Given the description of an element on the screen output the (x, y) to click on. 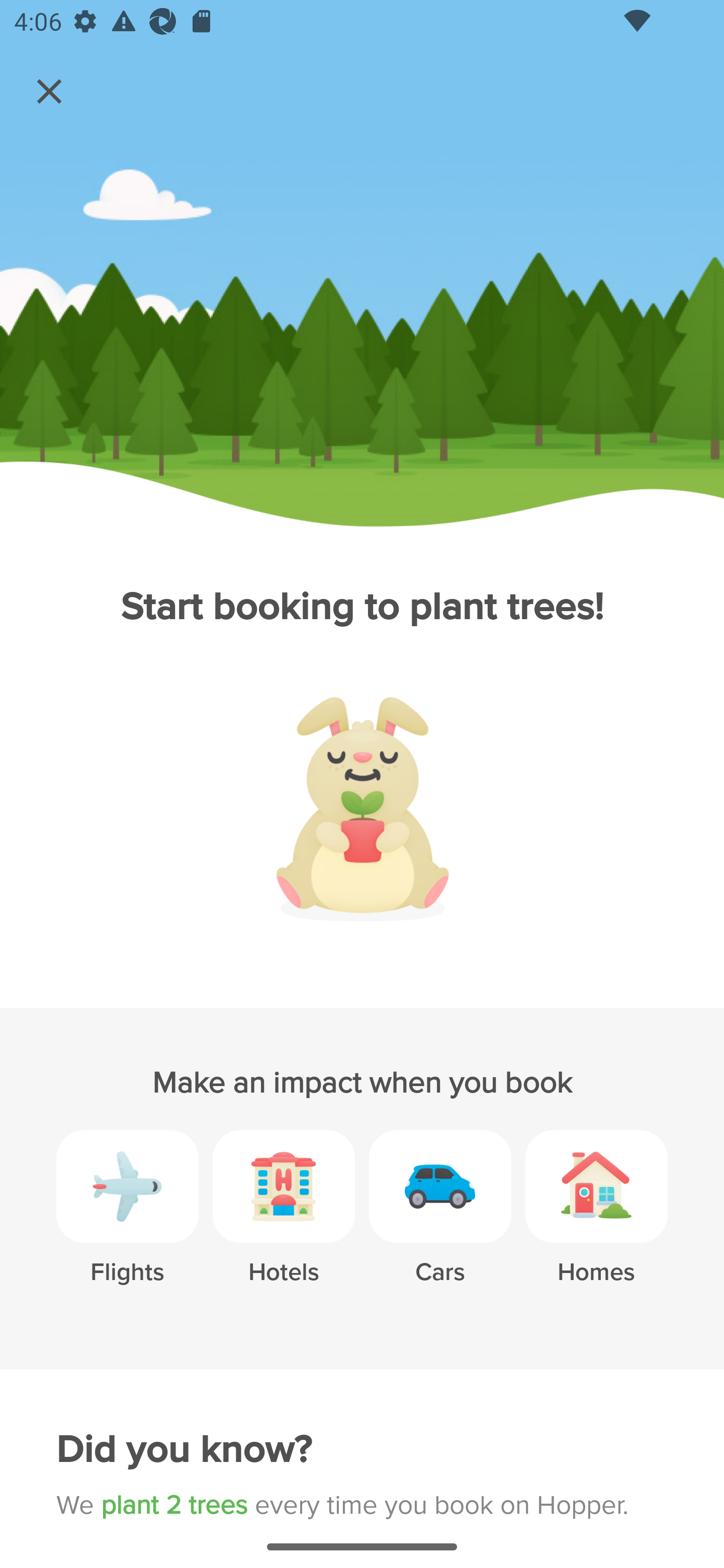
Navigate up (49, 91)
Flights (127, 1221)
Hotels (283, 1221)
Cars (440, 1221)
Homes (596, 1221)
